Given the description of an element on the screen output the (x, y) to click on. 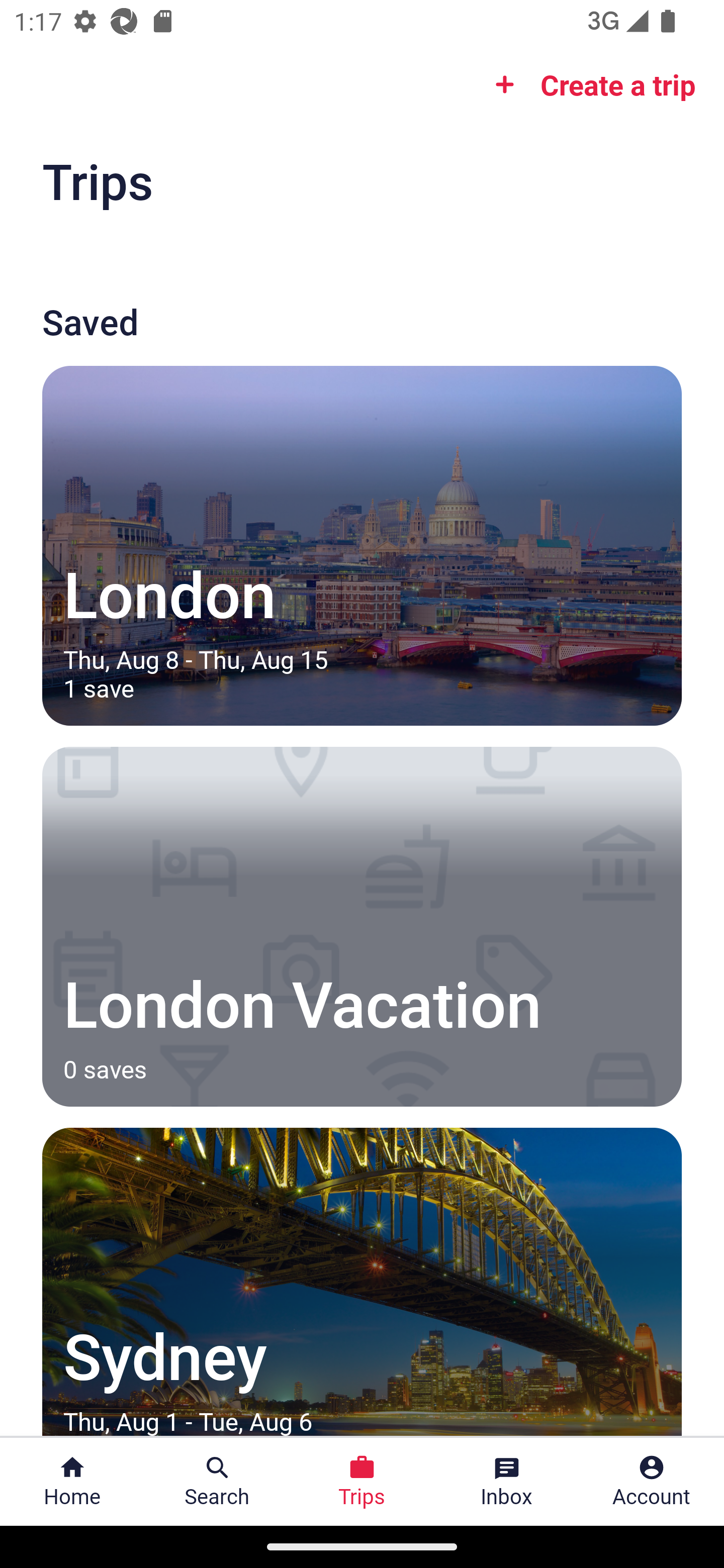
Create a trip Create a trip Button (589, 84)
Home Home Button (72, 1481)
Search Search Button (216, 1481)
Inbox Inbox Button (506, 1481)
Account Profile. Button (651, 1481)
